Given the description of an element on the screen output the (x, y) to click on. 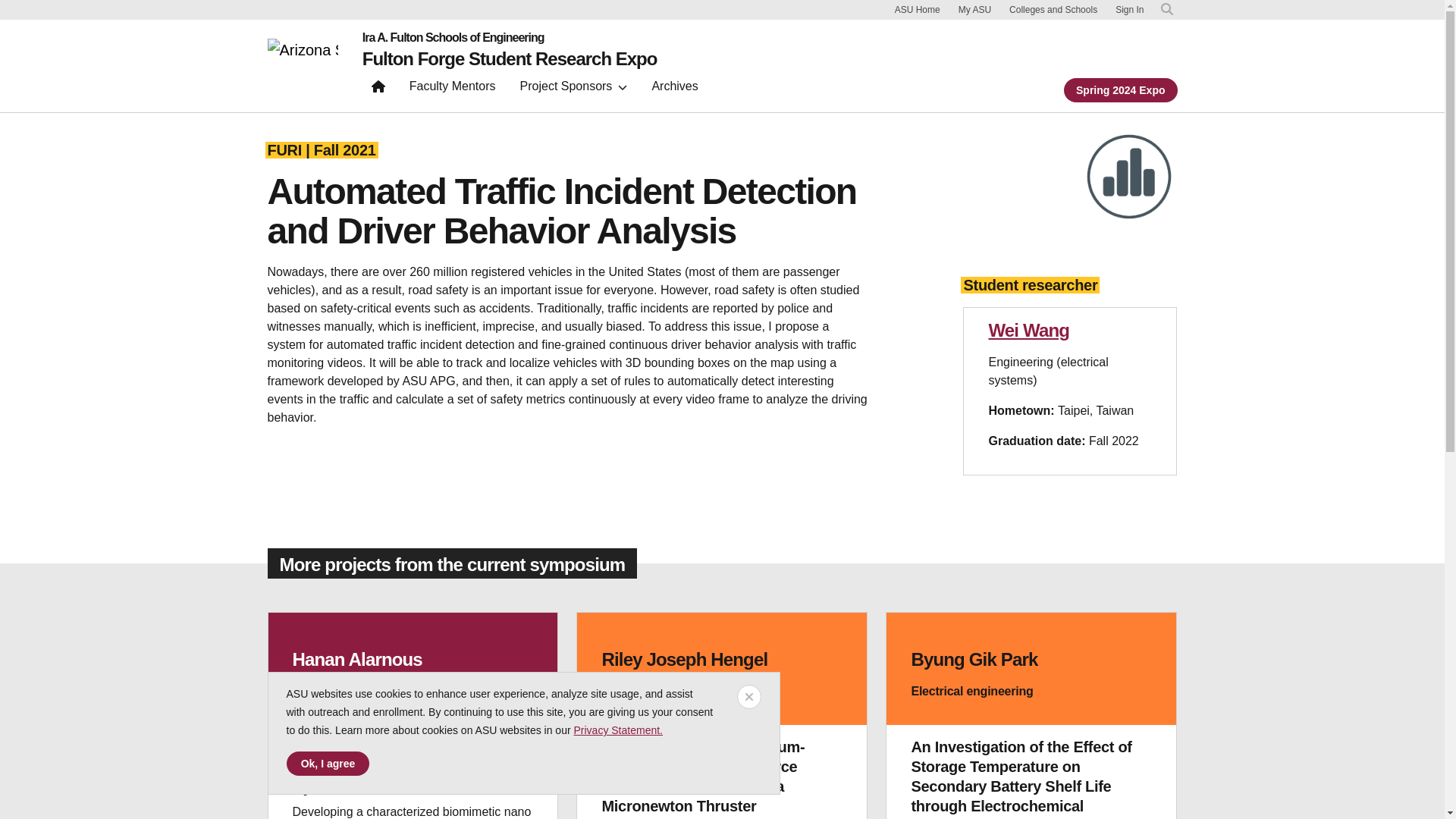
Spring 2024 Expo (1120, 88)
Fulton Forge Student Research Expo (510, 58)
Fulton Forge Student Research Expo home page (378, 89)
Faculty Mentors (452, 89)
Wei Wang (1028, 330)
My ASU (974, 9)
Colleges and Schools (1053, 9)
ASU Home (917, 9)
Archives (674, 89)
Project Sponsors (574, 89)
Ira A. Fulton Schools of Engineering (510, 37)
ASU home page (301, 65)
Sign In (1128, 9)
